Given the description of an element on the screen output the (x, y) to click on. 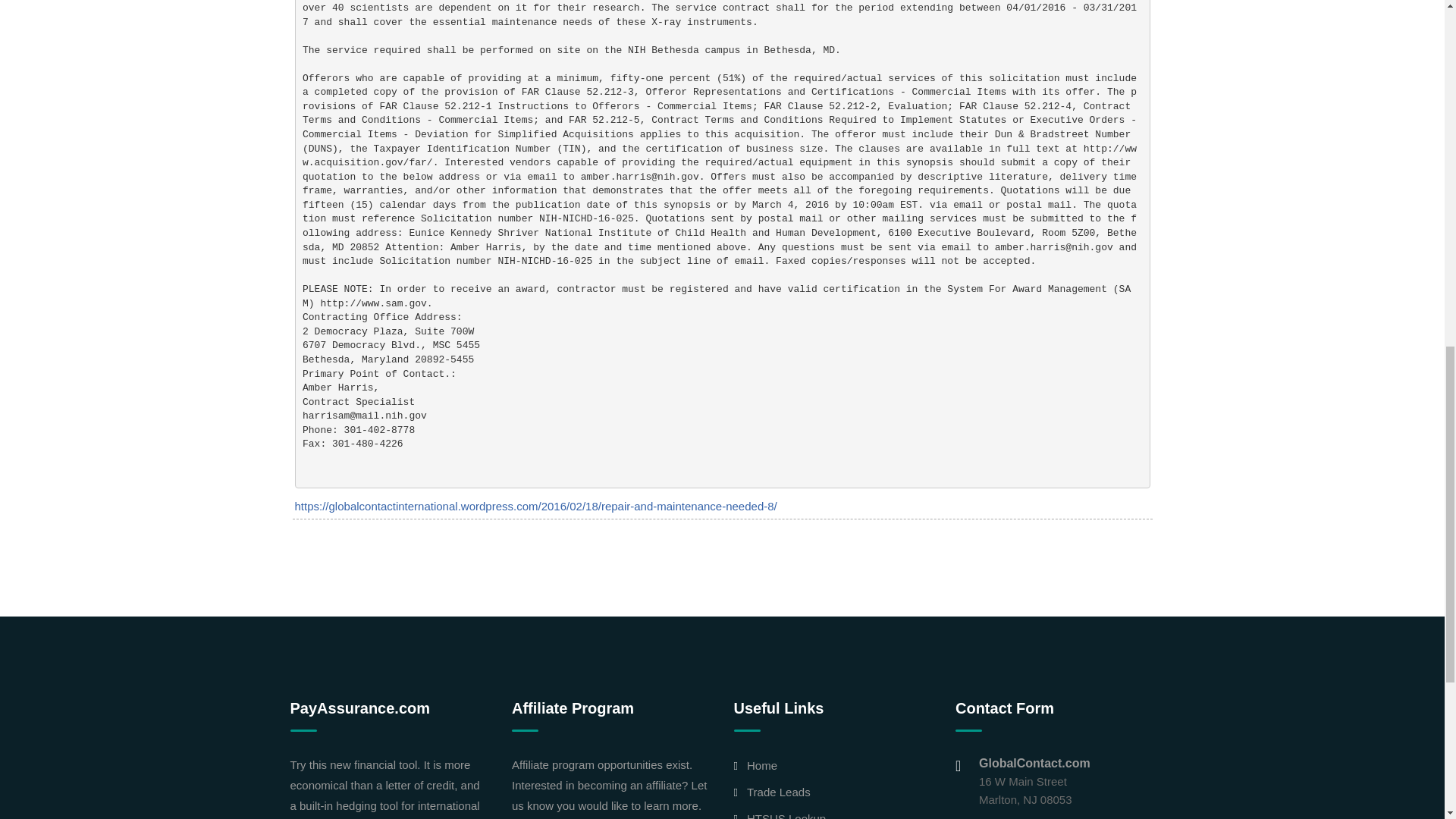
HTSUS Lookup (785, 815)
Home (761, 765)
Trade Leads (778, 791)
